Given the description of an element on the screen output the (x, y) to click on. 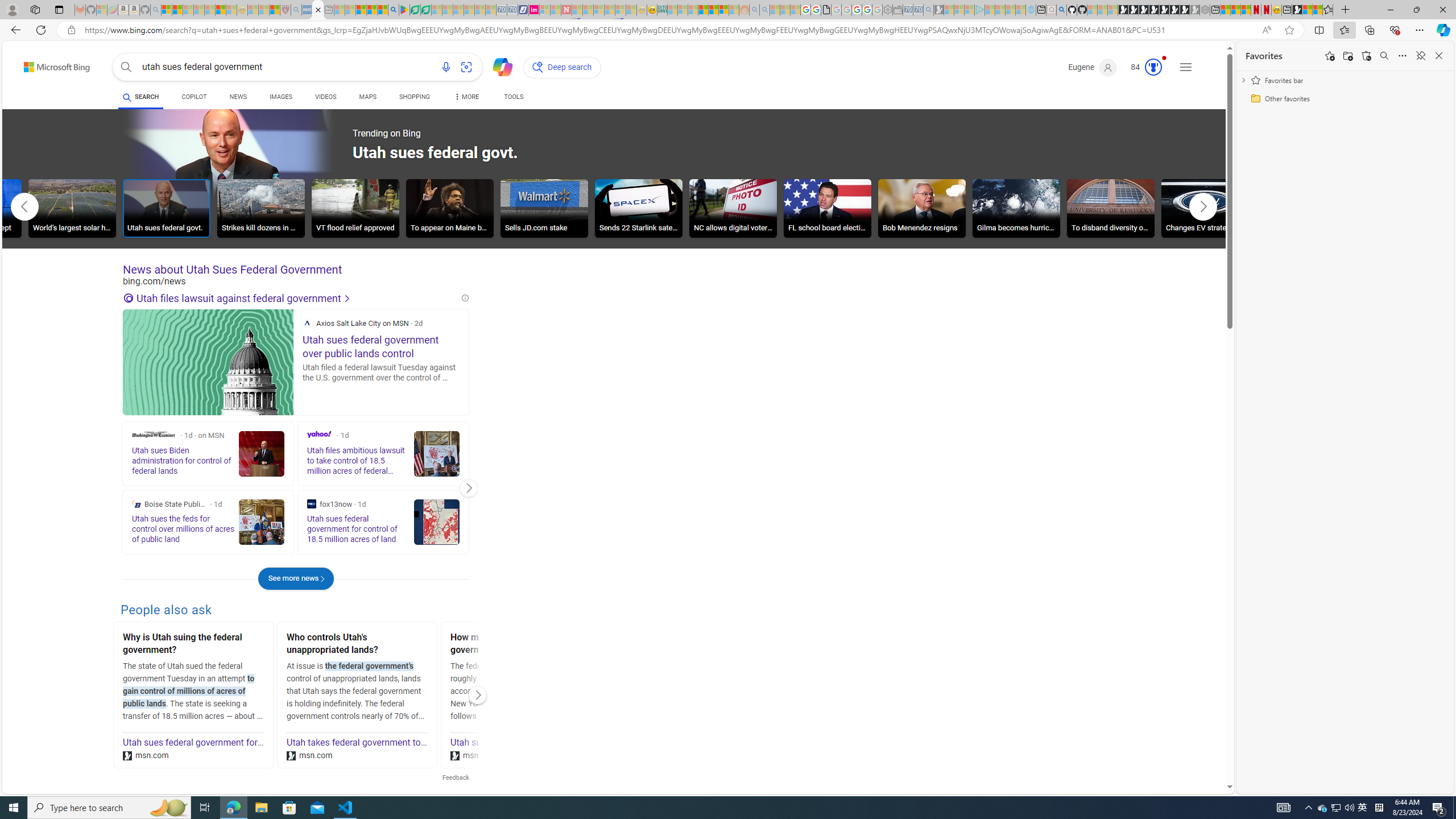
Utah takes federal government to court over control of land (405, 742)
SHOPPING (414, 96)
